Given the description of an element on the screen output the (x, y) to click on. 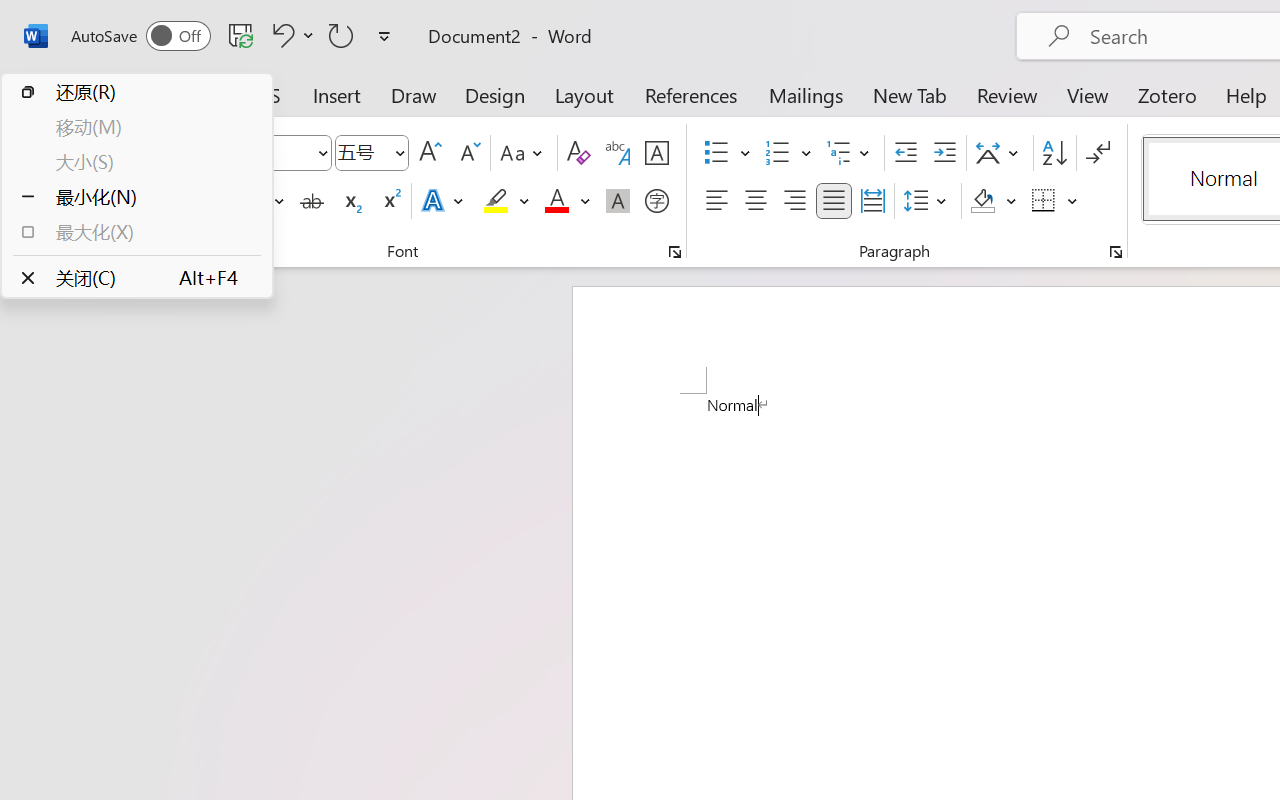
Paste (60, 179)
Numbering (778, 153)
Show/Hide Editing Marks (1098, 153)
Font Size (372, 153)
Copy (112, 179)
Shading (993, 201)
Undo Apply Quick Style (280, 35)
Align Right (794, 201)
References (690, 94)
Bold (172, 201)
Character Border (656, 153)
Font Color (567, 201)
File Tab (46, 94)
View (1087, 94)
Font (242, 153)
